Given the description of an element on the screen output the (x, y) to click on. 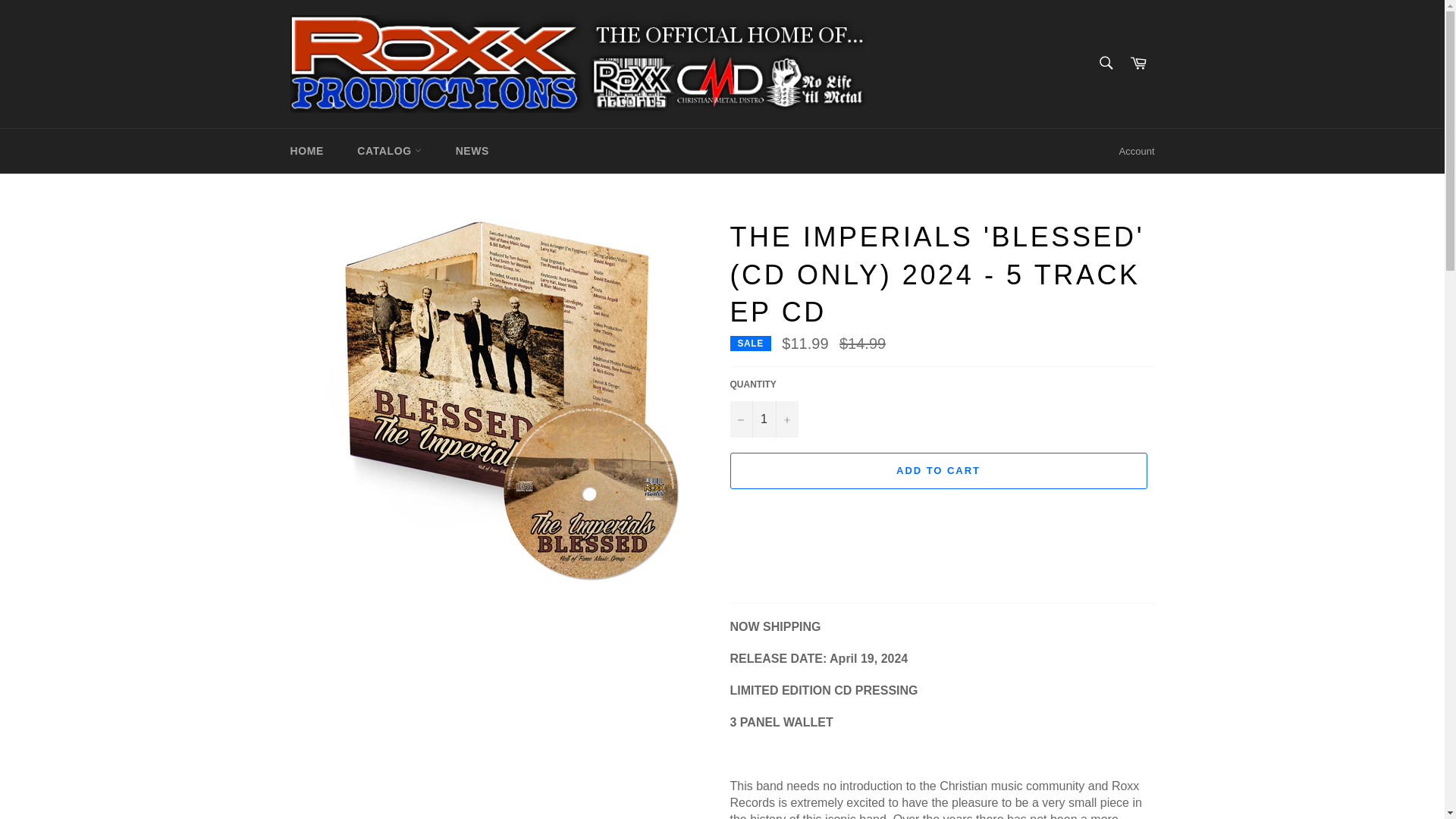
CATALOG (389, 150)
1 (763, 419)
Account (1136, 151)
Search (1104, 62)
ADD TO CART (938, 470)
NEWS (472, 150)
Cart (1138, 63)
HOME (306, 150)
